Given the description of an element on the screen output the (x, y) to click on. 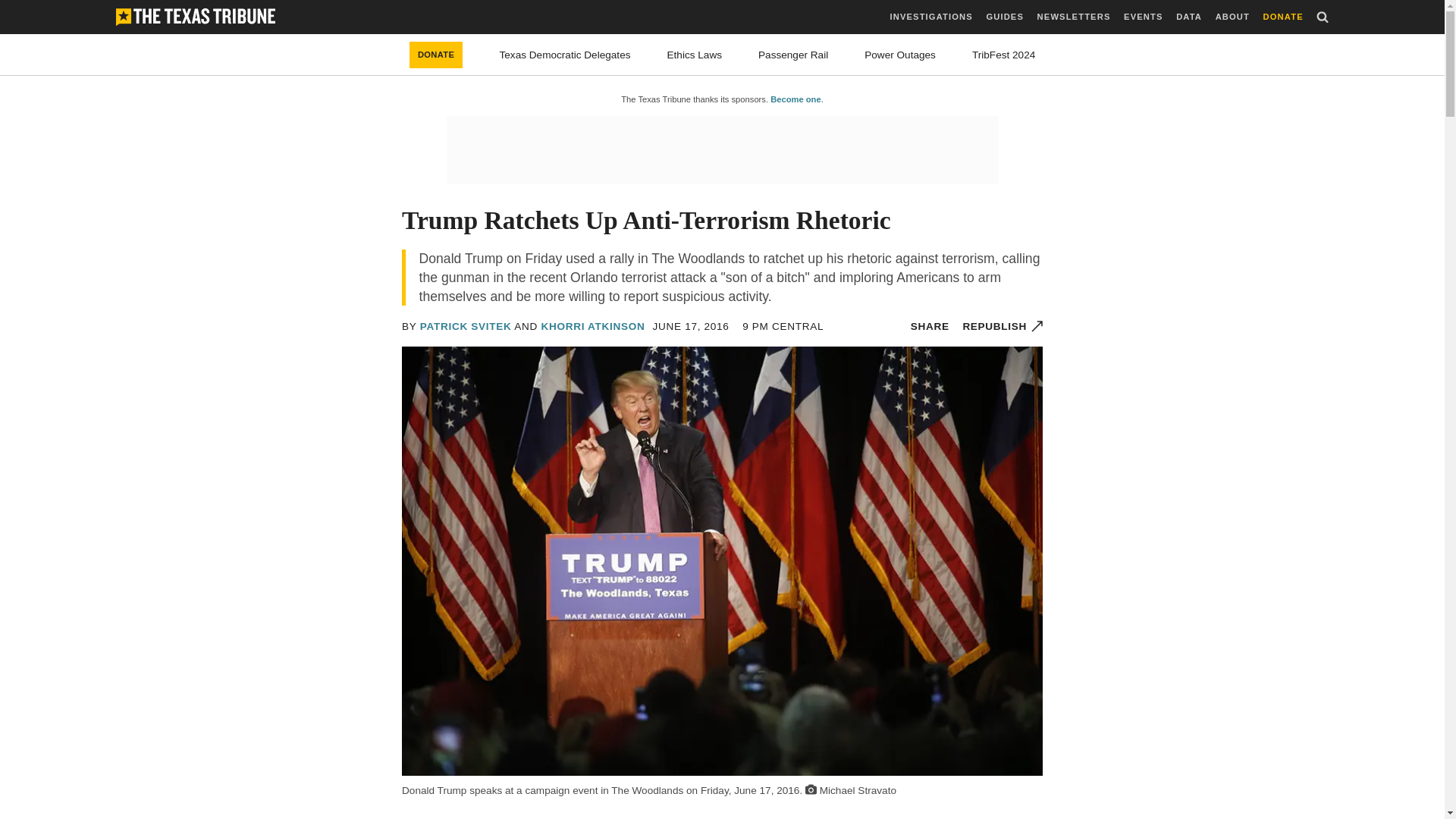
NEWSLETTERS (1073, 17)
Texas Democratic Delegates (564, 54)
GUIDES (1004, 17)
Passenger Rail (793, 54)
2016-06-17 21:16 CDT (690, 326)
INVESTIGATIONS (930, 17)
Become one (795, 99)
DONATE (1283, 17)
TribFest 2024 (1003, 54)
DONATE (436, 54)
2016-06-17 21:16 CDT (783, 326)
3rd party ad content (721, 150)
KHORRI ATKINSON (592, 326)
Ethics Laws (694, 54)
PATRICK SVITEK (466, 326)
